Given the description of an element on the screen output the (x, y) to click on. 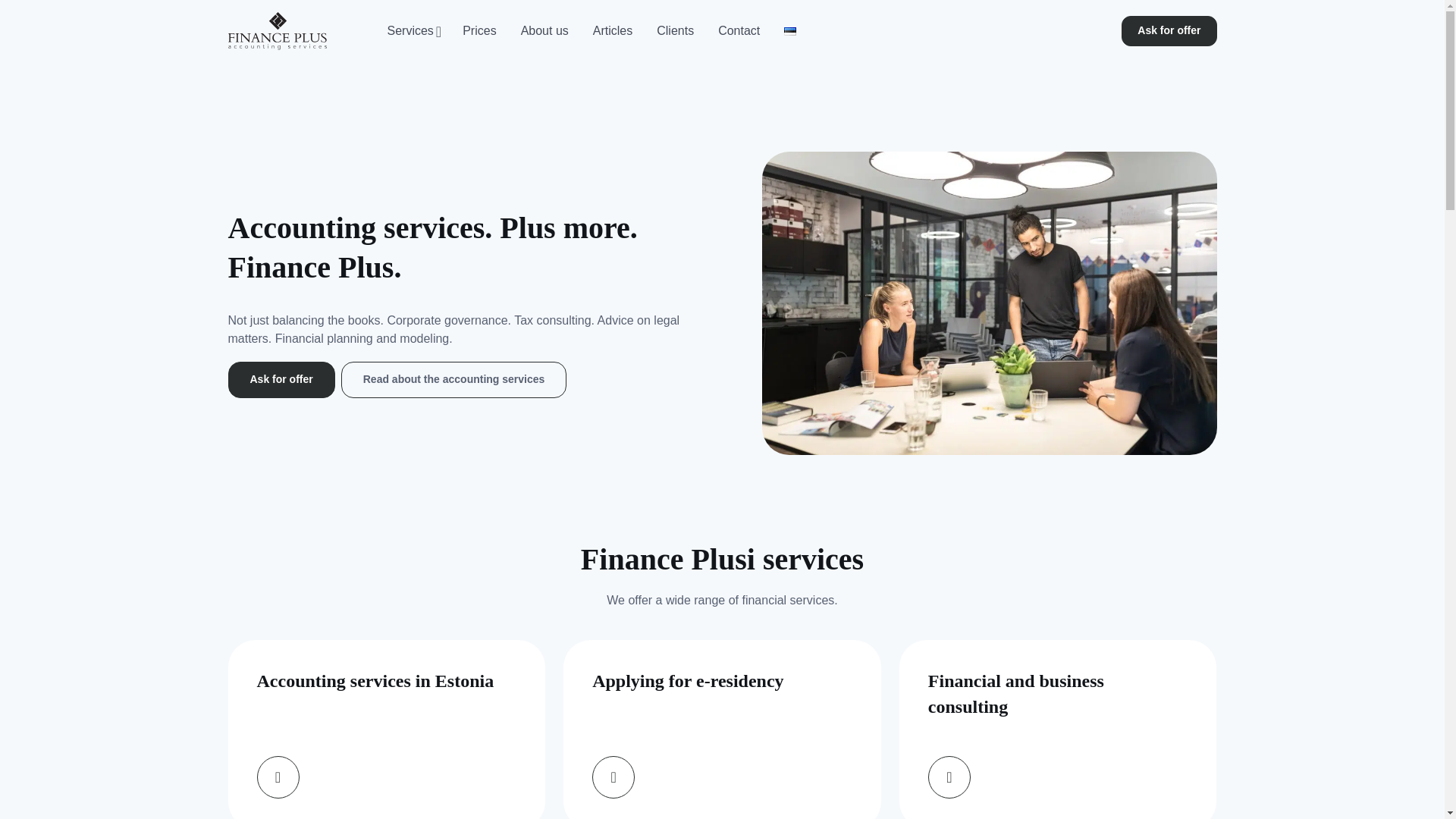
Financial and business consulting (1058, 729)
Ask for offer (1168, 30)
Ask for offer (280, 379)
Finance Plus (282, 30)
Accounting services in Estonia (385, 729)
Services (411, 30)
Contact (738, 30)
Prices (478, 30)
Read about the accounting services (591, 30)
